Given the description of an element on the screen output the (x, y) to click on. 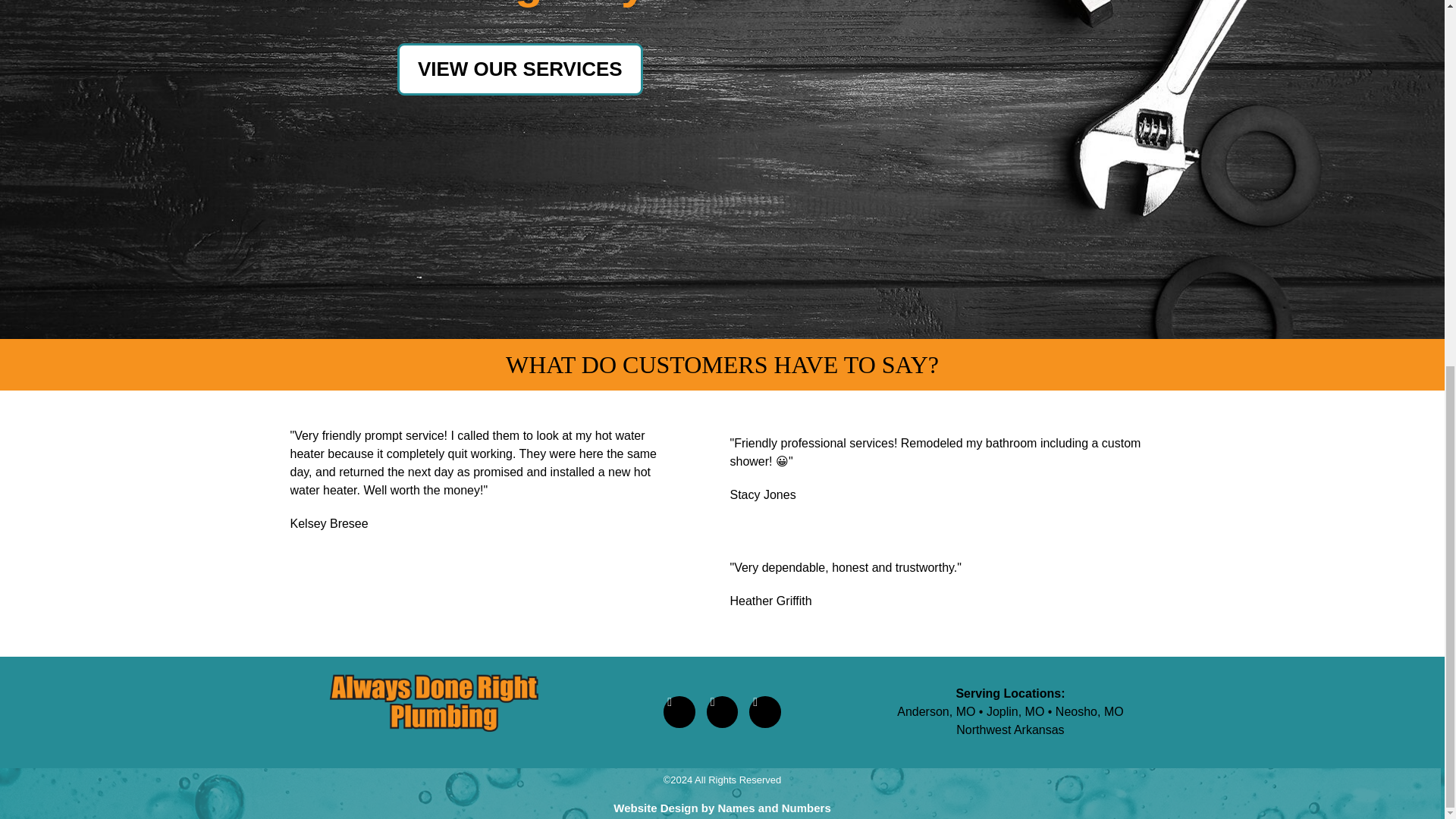
VIEW OUR SERVICES (520, 69)
Website Design by Names and Numbers (720, 807)
